Given the description of an element on the screen output the (x, y) to click on. 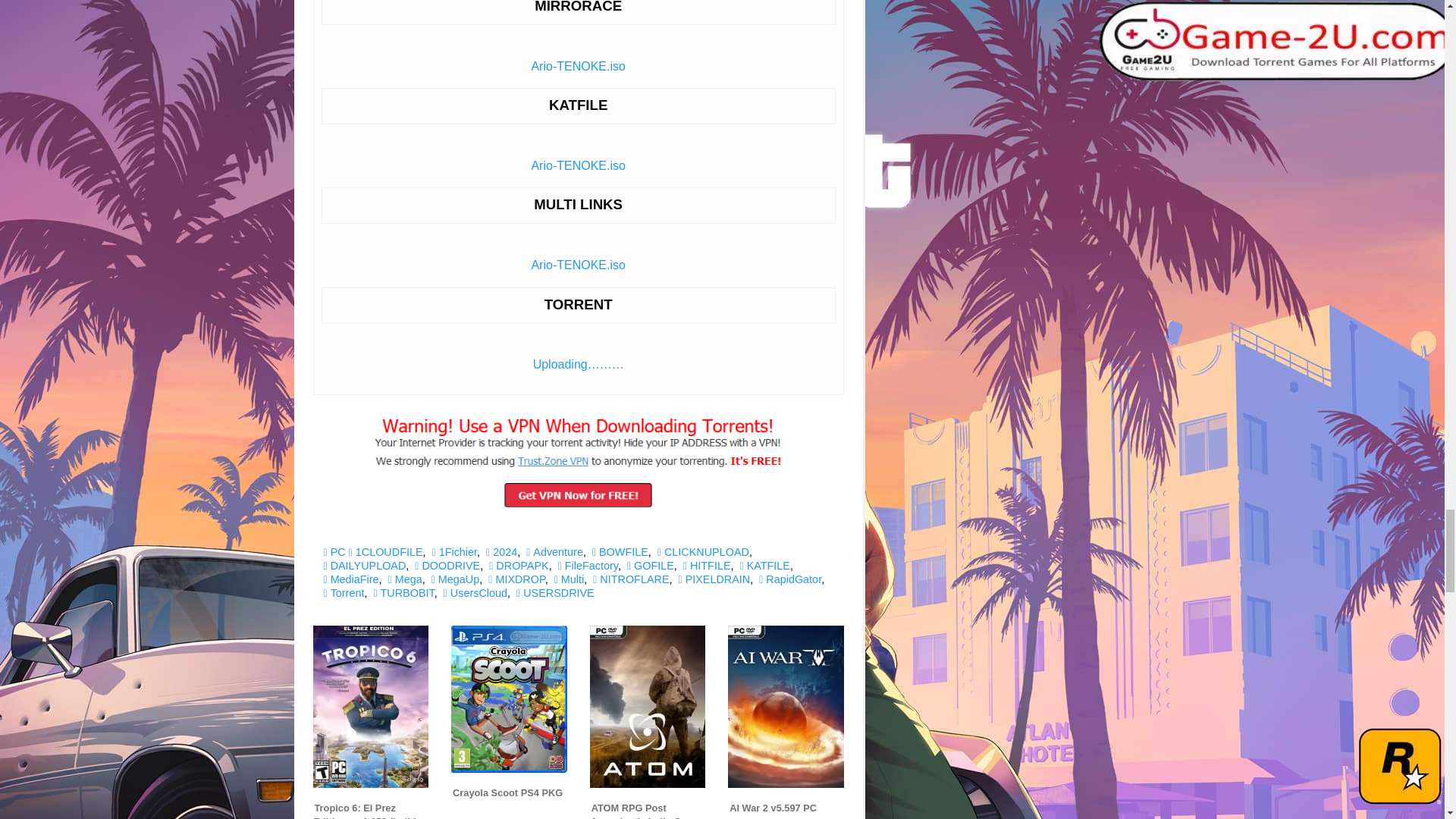
AI War 2 v5.597 PC (772, 807)
ATOM RPG Post Apocalyptic Indie Game v1.187 PC (645, 807)
Crayola Scoot PS4 PKG (507, 792)
vpn (578, 461)
